Given the description of an element on the screen output the (x, y) to click on. 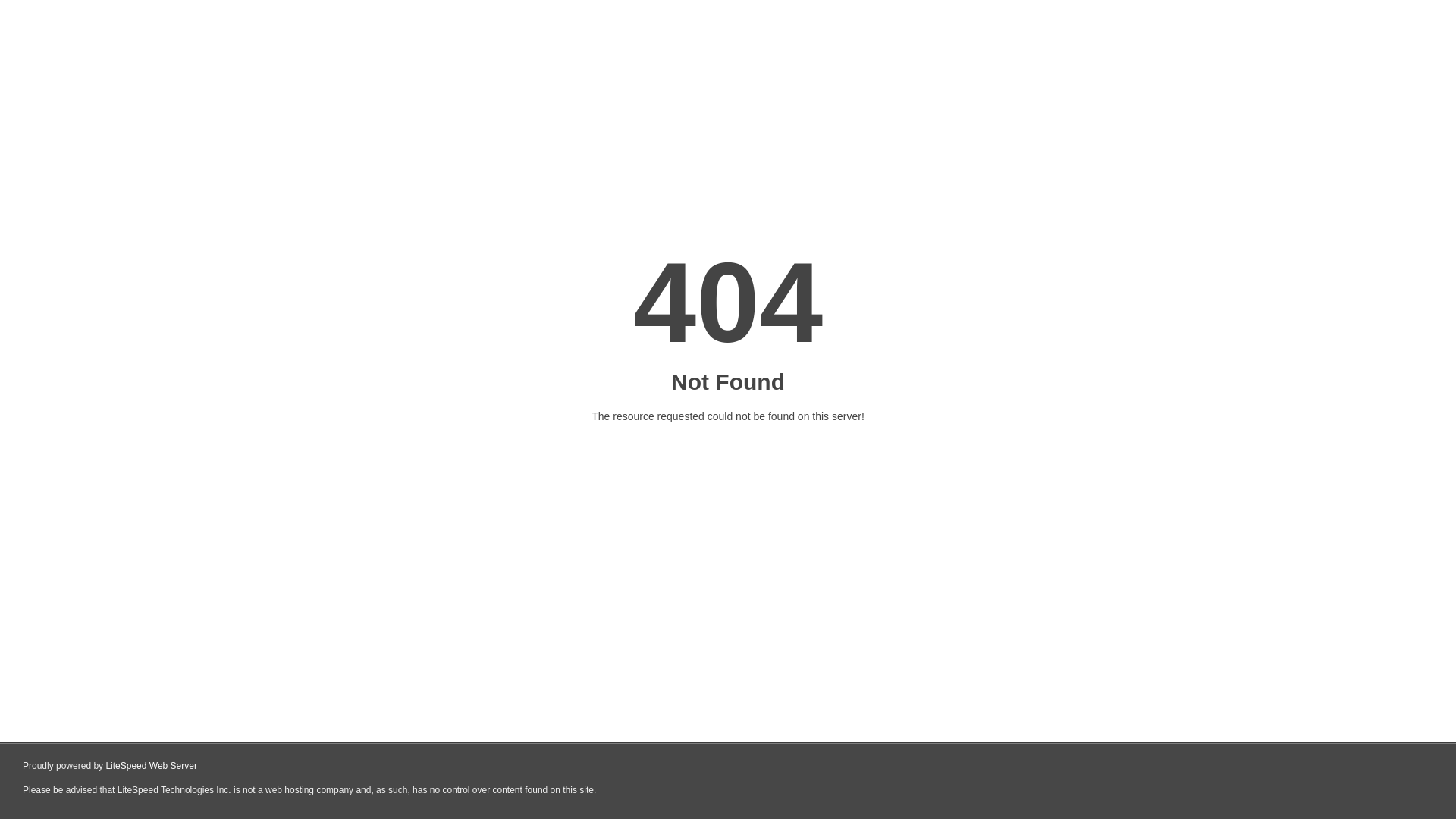
LiteSpeed Web Server Element type: text (151, 765)
